Given the description of an element on the screen output the (x, y) to click on. 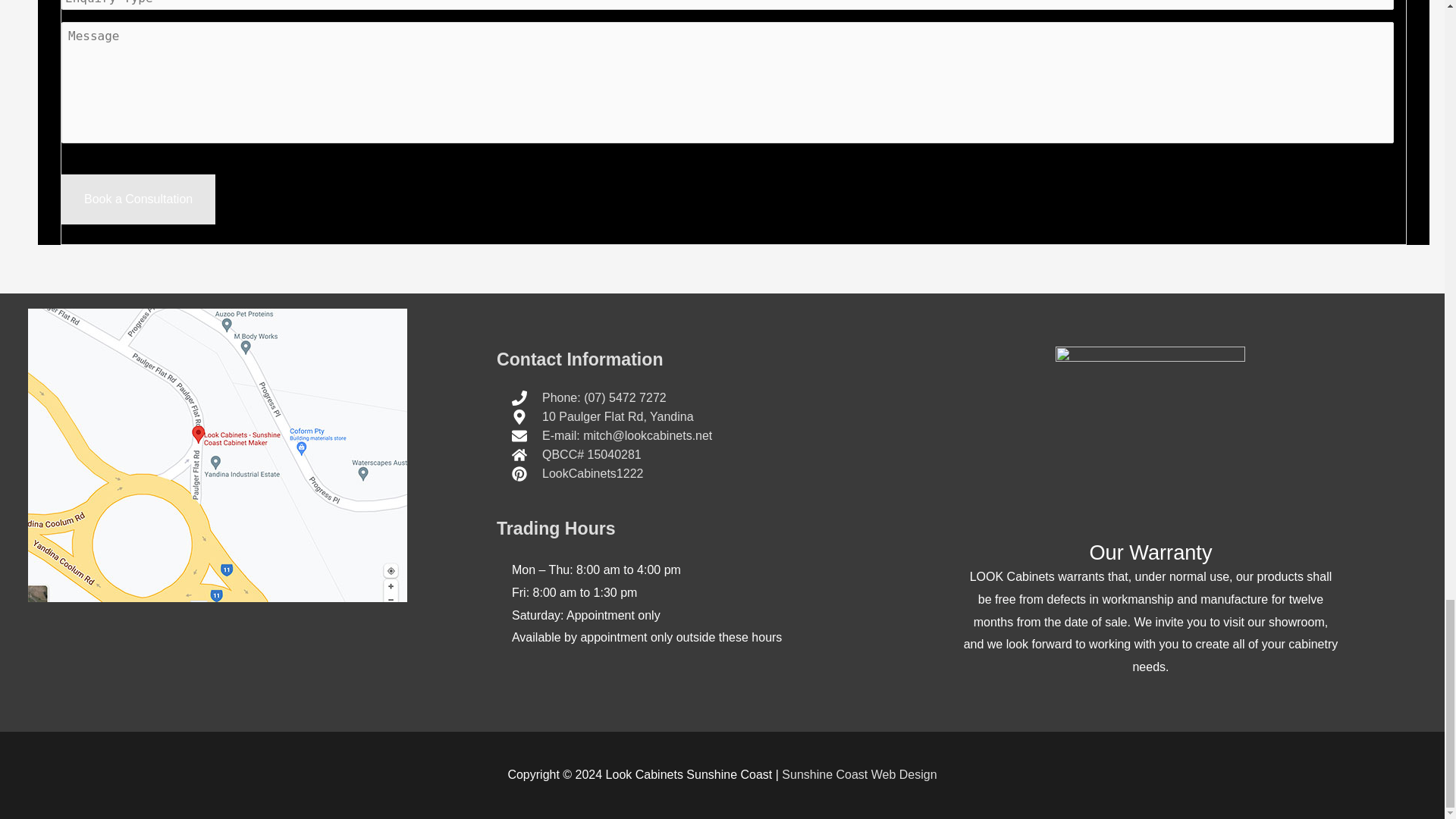
Book a Consultation (138, 199)
